Given the description of an element on the screen output the (x, y) to click on. 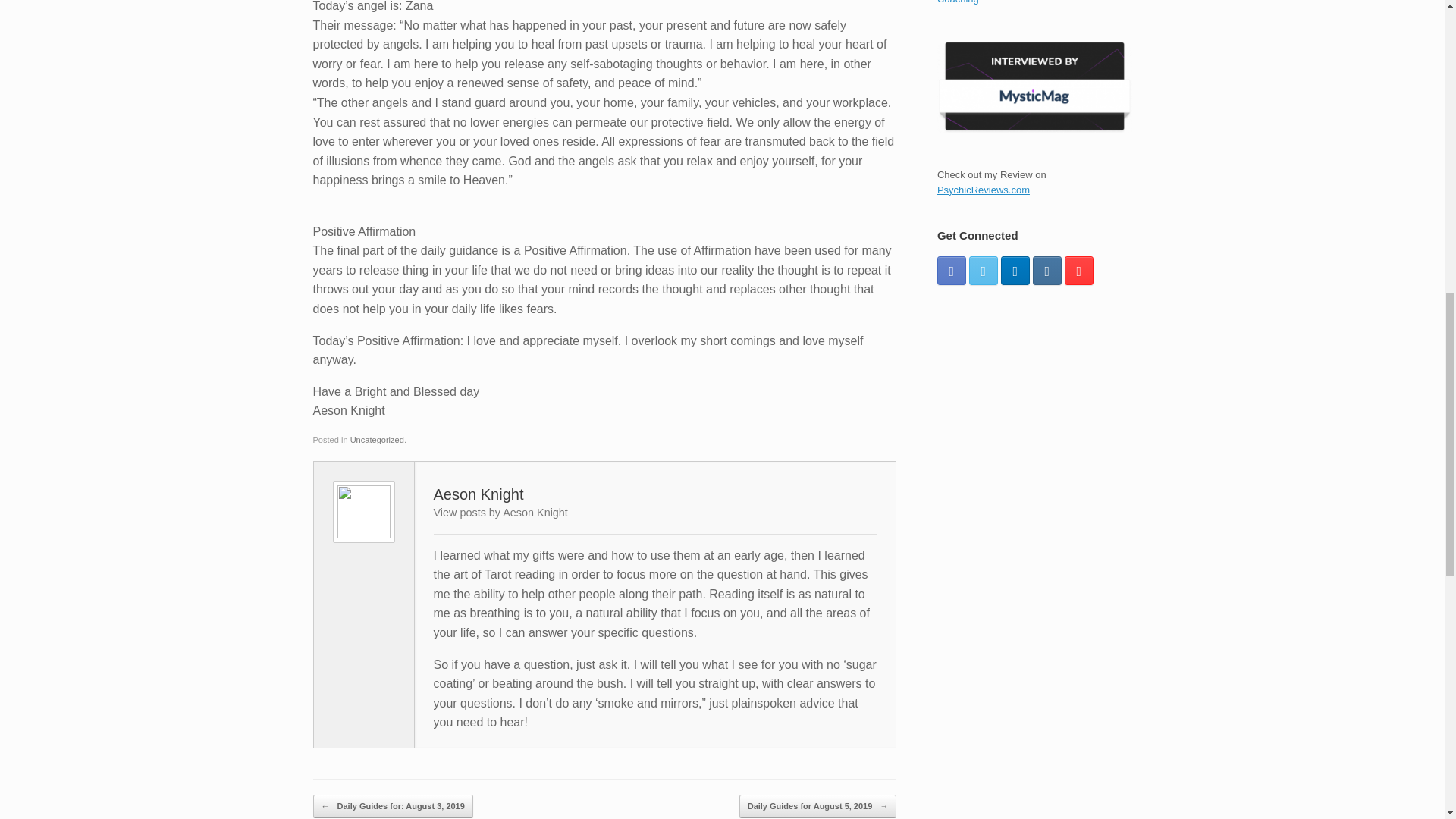
Uncategorized (377, 439)
Welcome to Aeson Knight LinkedIn (1015, 270)
Welcome to Aeson Knight Facebook (951, 270)
Welcome to Aeson Knight Instagram (1046, 270)
Welcome to Aeson Knight YouTube (1078, 270)
View posts by Aeson Knight (500, 512)
